Given the description of an element on the screen output the (x, y) to click on. 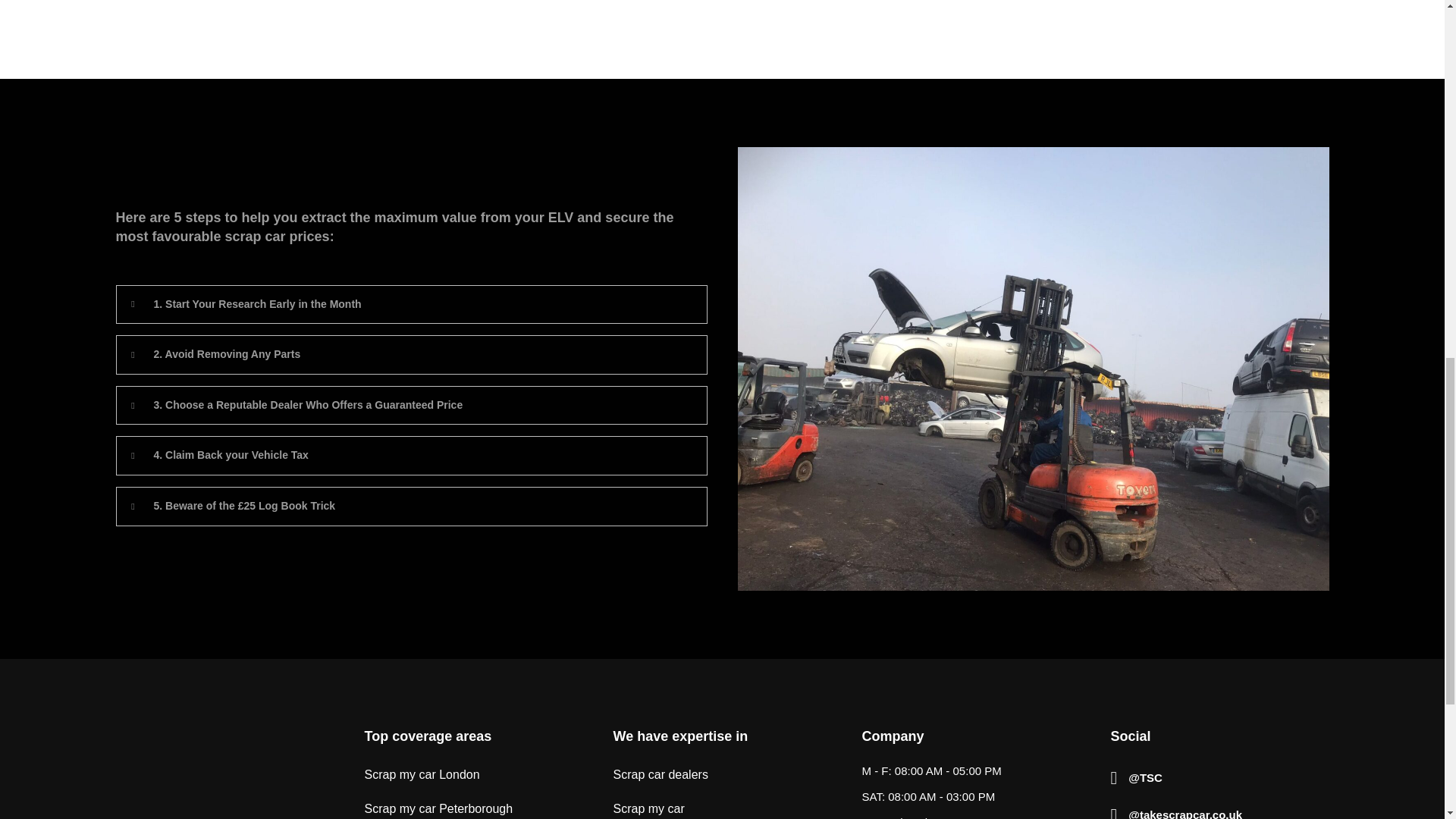
logo (171, 775)
Scrap my car London (473, 774)
Scrap my car (721, 805)
Scrap car dealers (721, 774)
Scrap my car Peterborough (473, 805)
